Given the description of an element on the screen output the (x, y) to click on. 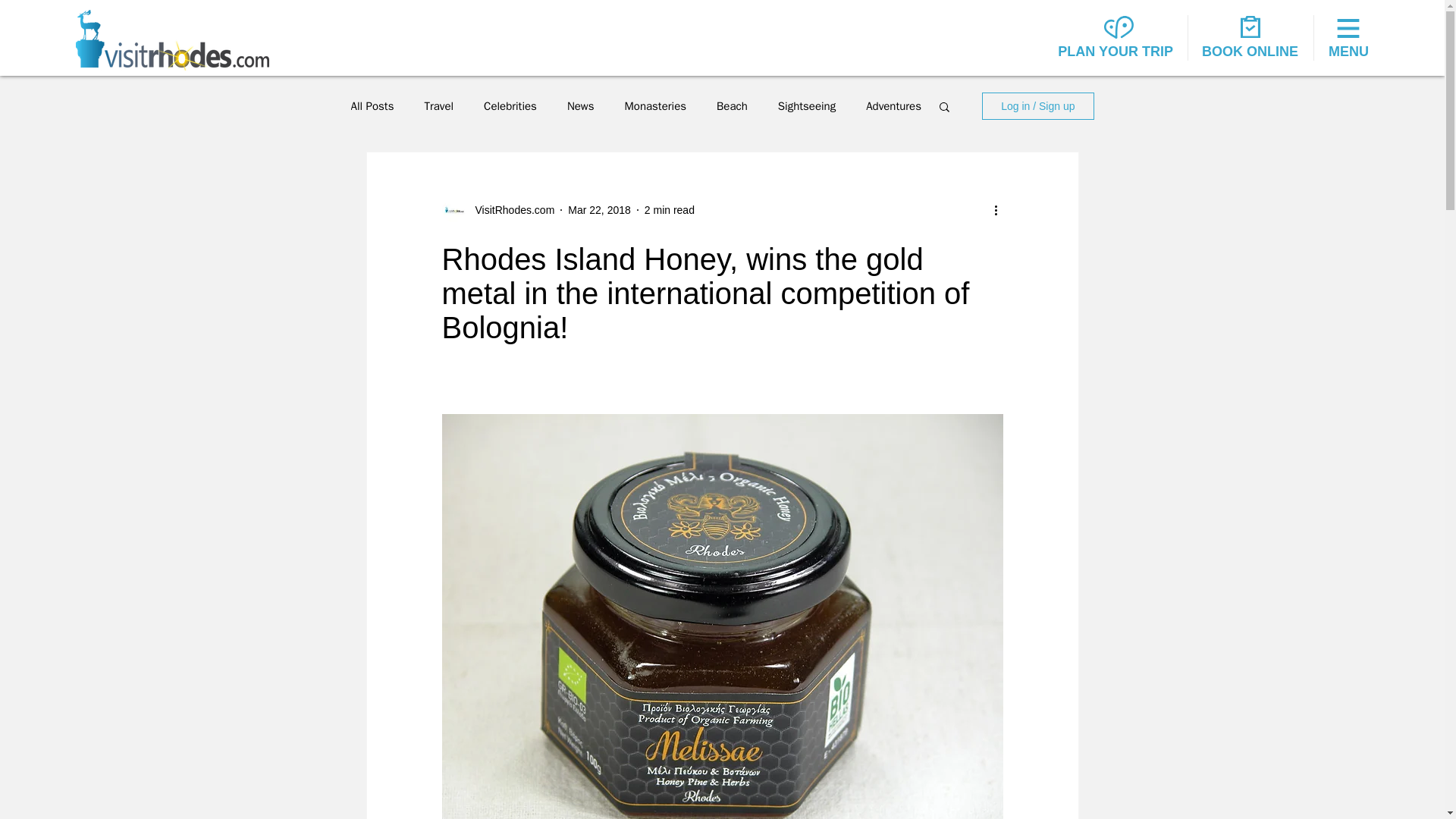
2 min read (669, 209)
Adventures (893, 105)
All Posts (371, 105)
VisitRhodes.com (509, 209)
Sightseeing (806, 105)
Monasteries (654, 105)
Beach (732, 105)
Celebrities (510, 105)
News (580, 105)
Mar 22, 2018 (598, 209)
Travel (437, 105)
